Given the description of an element on the screen output the (x, y) to click on. 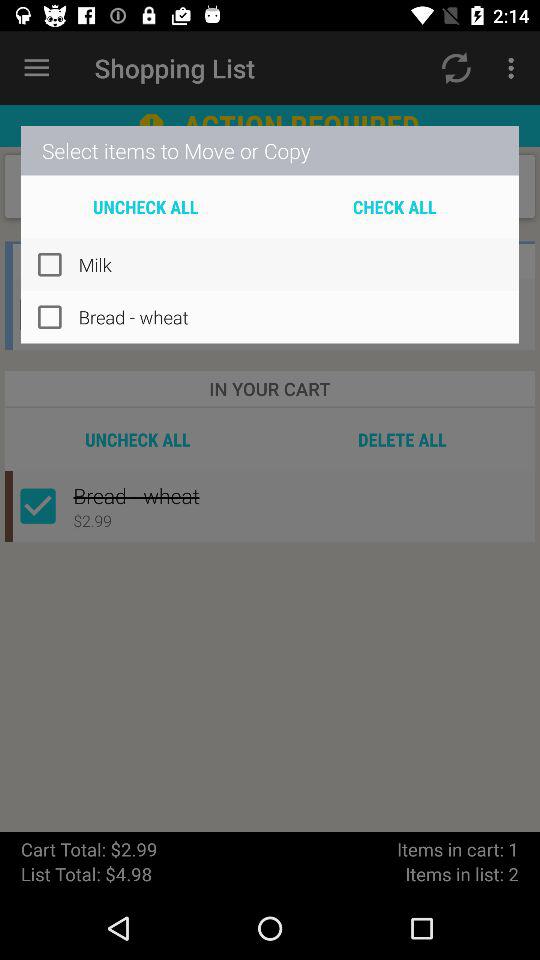
tap the item above uncheck all icon (270, 150)
